Given the description of an element on the screen output the (x, y) to click on. 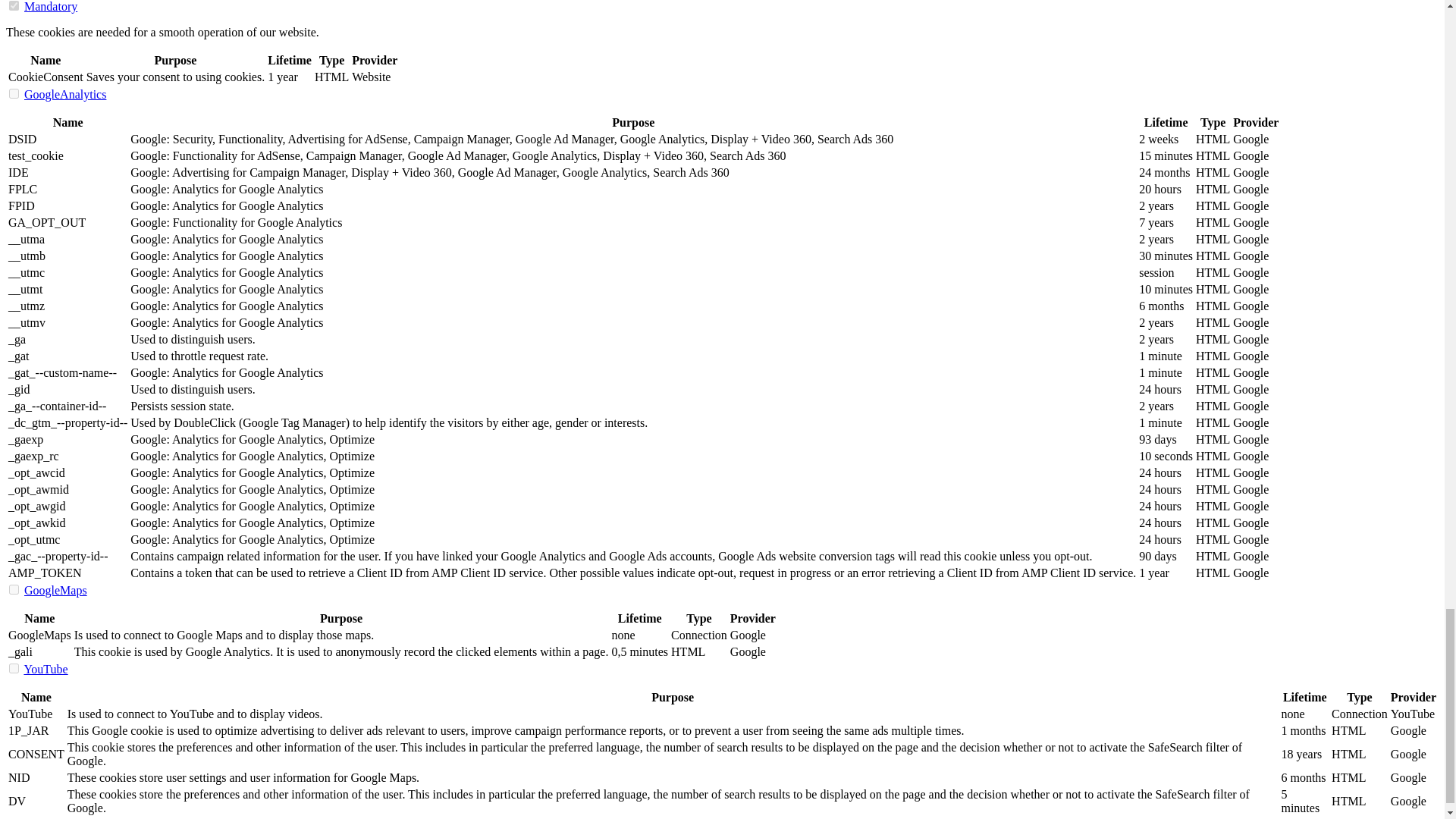
on (13, 668)
on (13, 589)
on (13, 5)
on (13, 93)
